Given the description of an element on the screen output the (x, y) to click on. 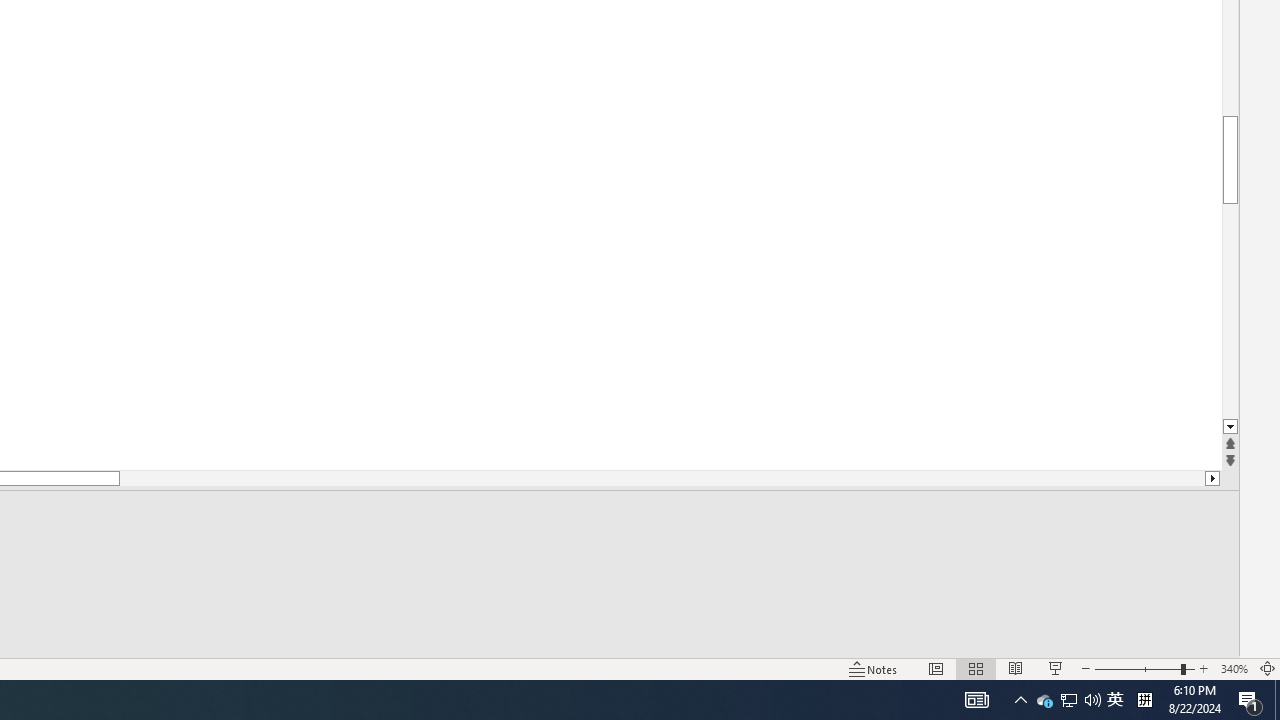
Zoom 340% (1234, 668)
